Given the description of an element on the screen output the (x, y) to click on. 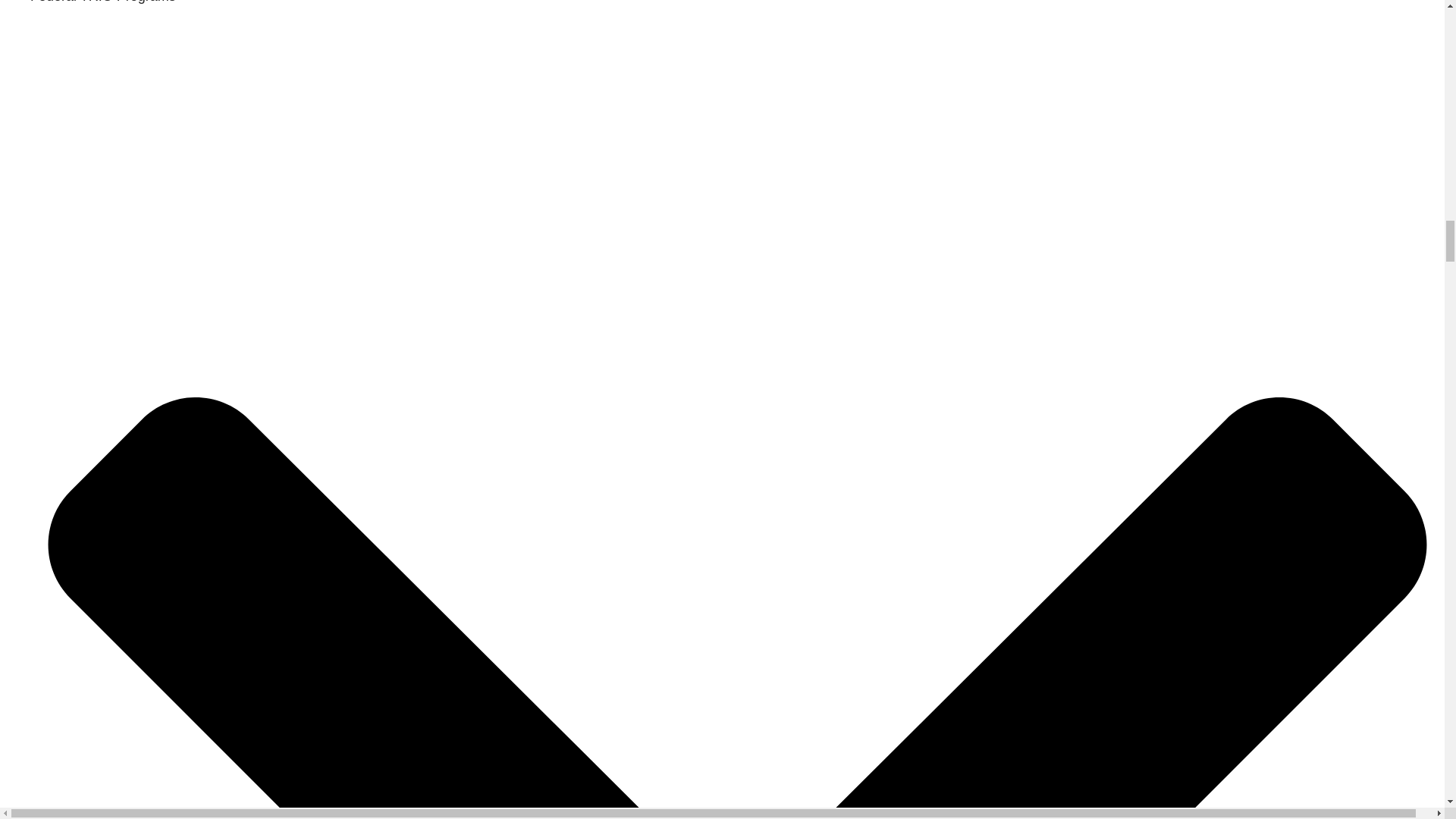
Federal TRIO Programs (103, 2)
